Given the description of an element on the screen output the (x, y) to click on. 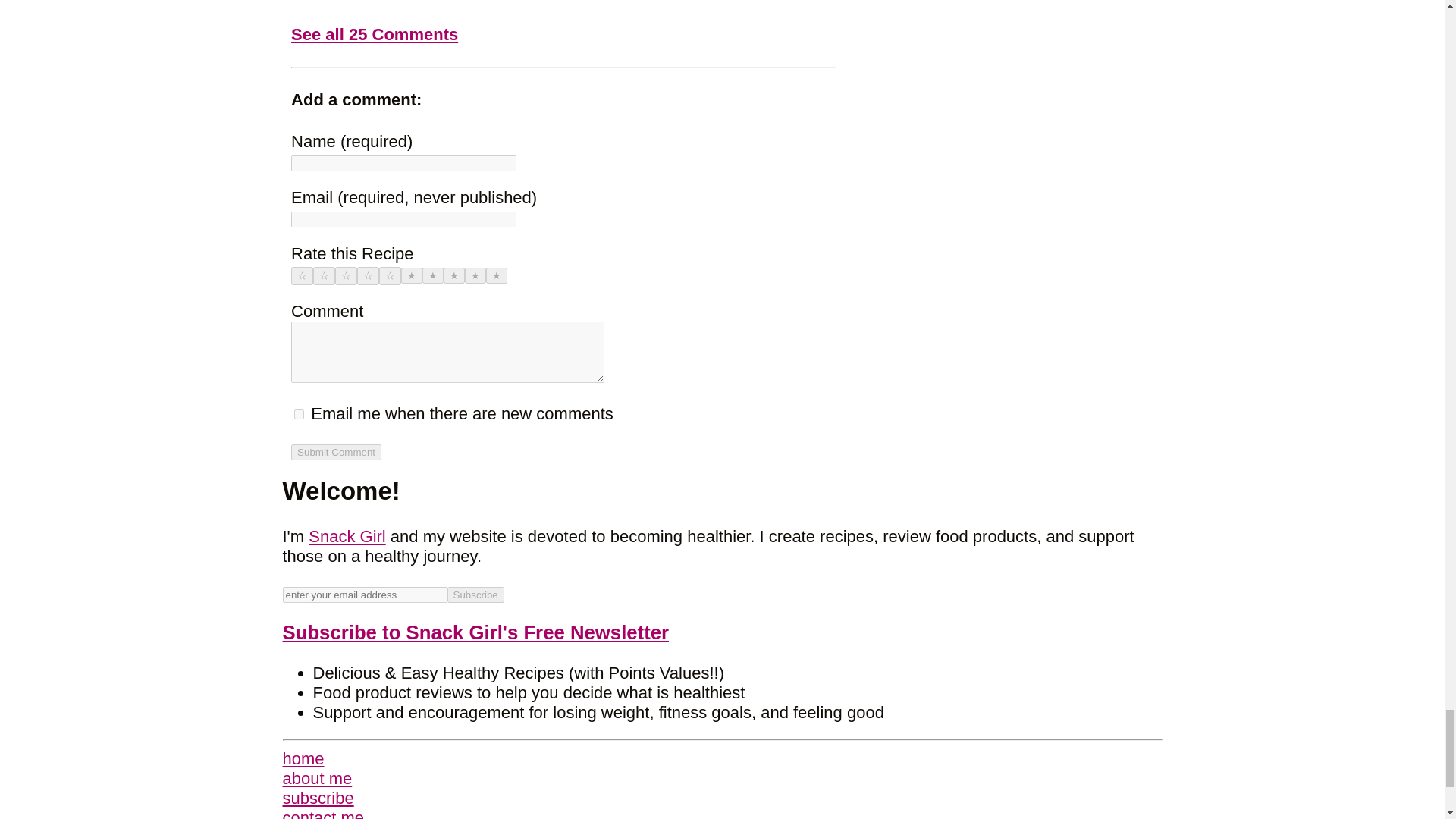
on (299, 414)
Subscribe (474, 594)
Submit Comment (336, 452)
